Given the description of an element on the screen output the (x, y) to click on. 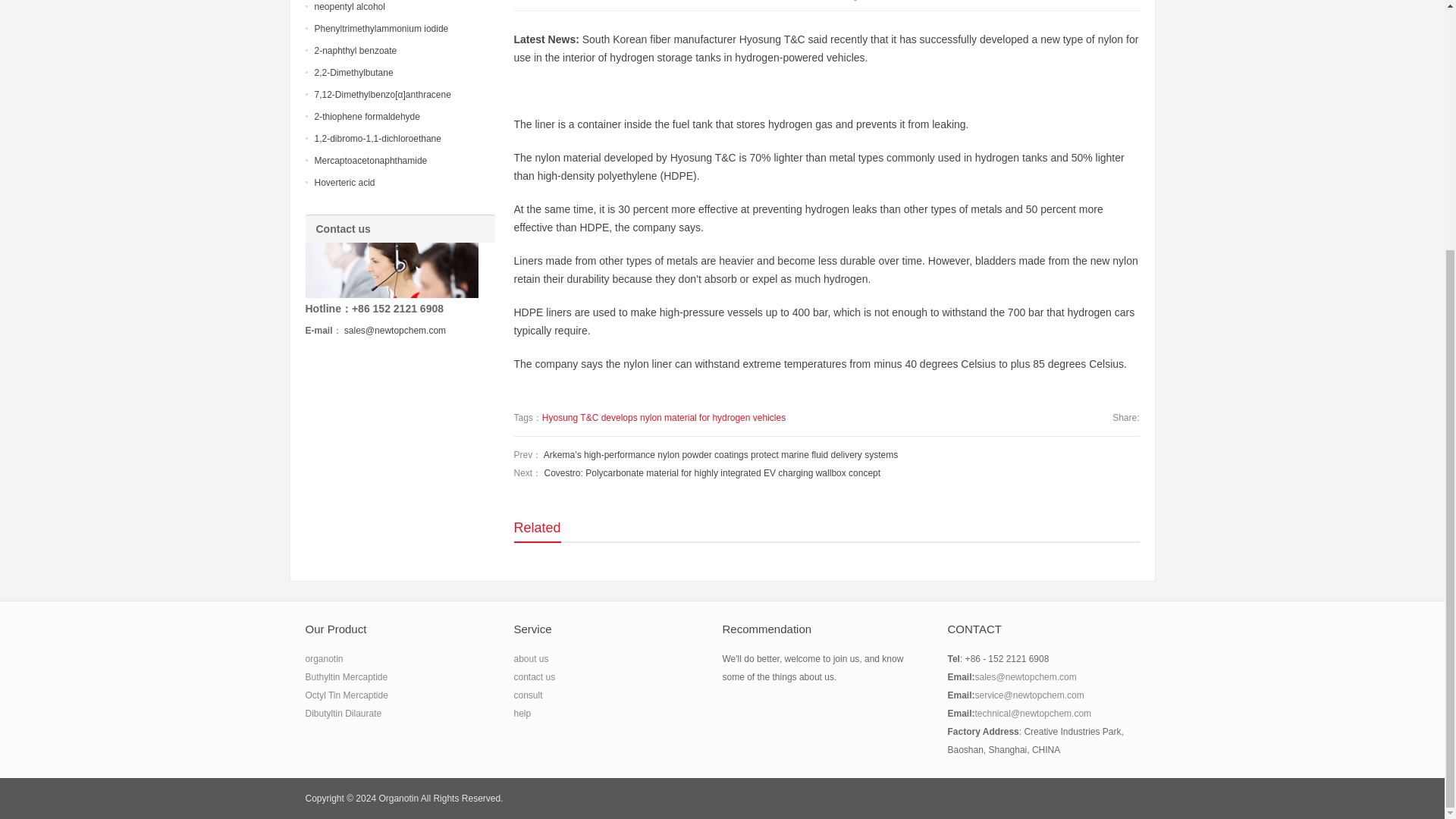
Contact us (390, 270)
Mercaptoacetonaphthamide (370, 160)
Phenyltrimethylammonium iodide (381, 28)
Hoverteric acid (344, 182)
Buthyltin Mercaptide (345, 676)
2-thiophene formaldehyde (366, 116)
2-naphthyl benzoate (355, 50)
2,2-Dimethylbutane (353, 72)
Phenyltrimethylammonium iodide (381, 28)
2,2-Dimethylbutane (353, 72)
